Given the description of an element on the screen output the (x, y) to click on. 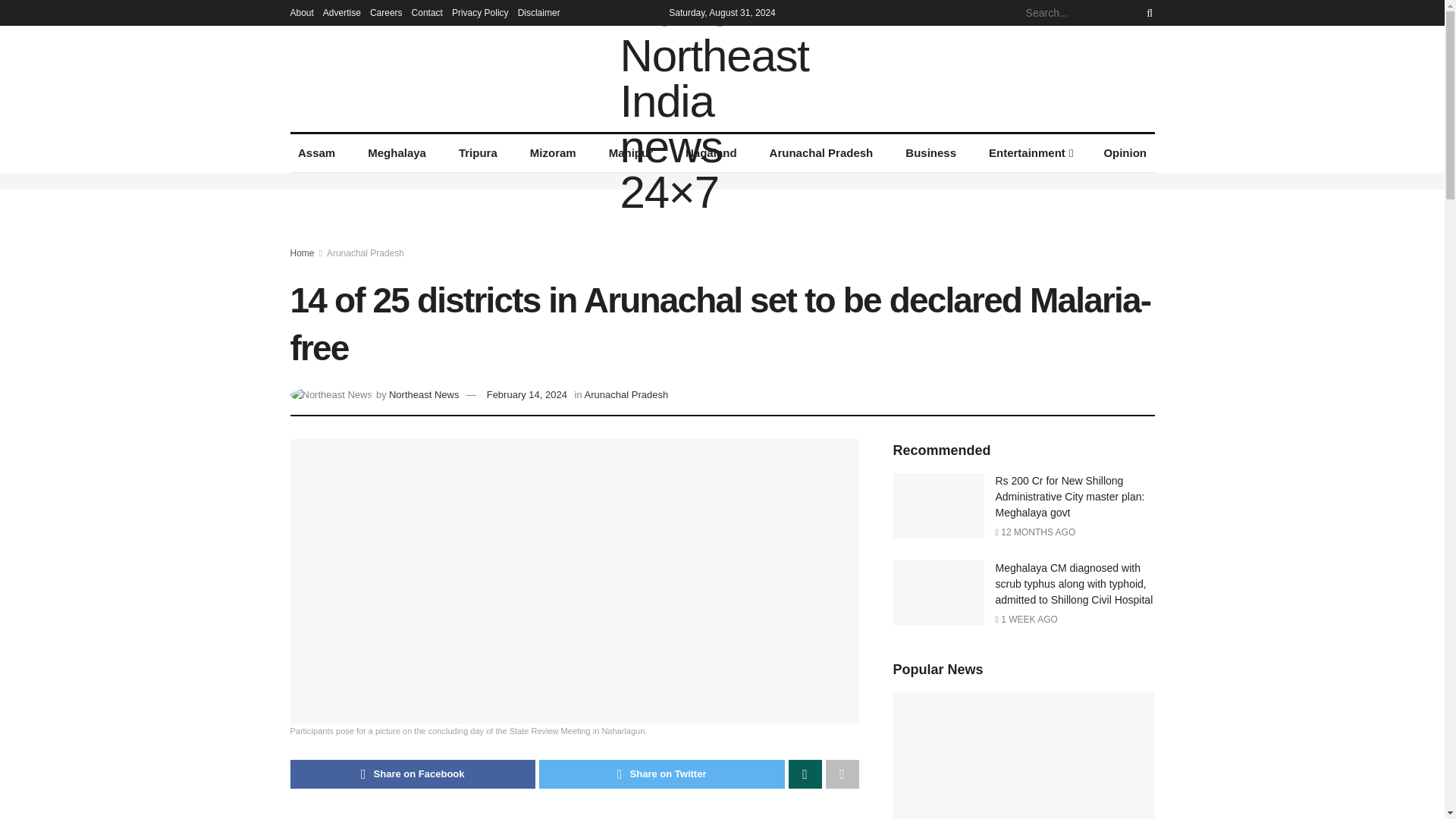
Assam (315, 152)
Nagaland (711, 152)
Meghalaya (396, 152)
Mizoram (552, 152)
Tripura (477, 152)
About (301, 12)
Careers (386, 12)
Entertainment (1029, 152)
Opinion (1125, 152)
Manipur (630, 152)
